Given the description of an element on the screen output the (x, y) to click on. 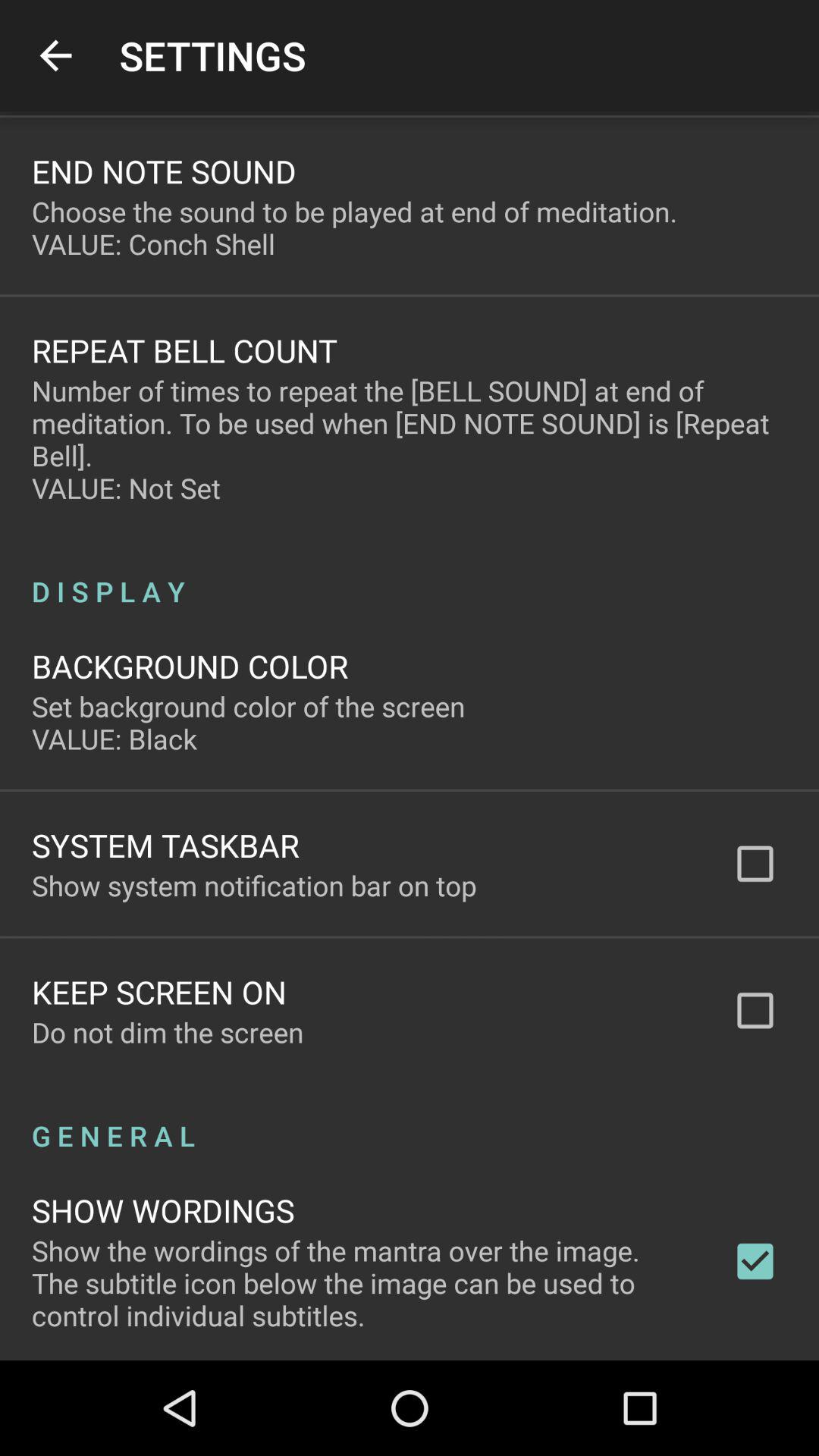
jump until number of times (409, 438)
